Given the description of an element on the screen output the (x, y) to click on. 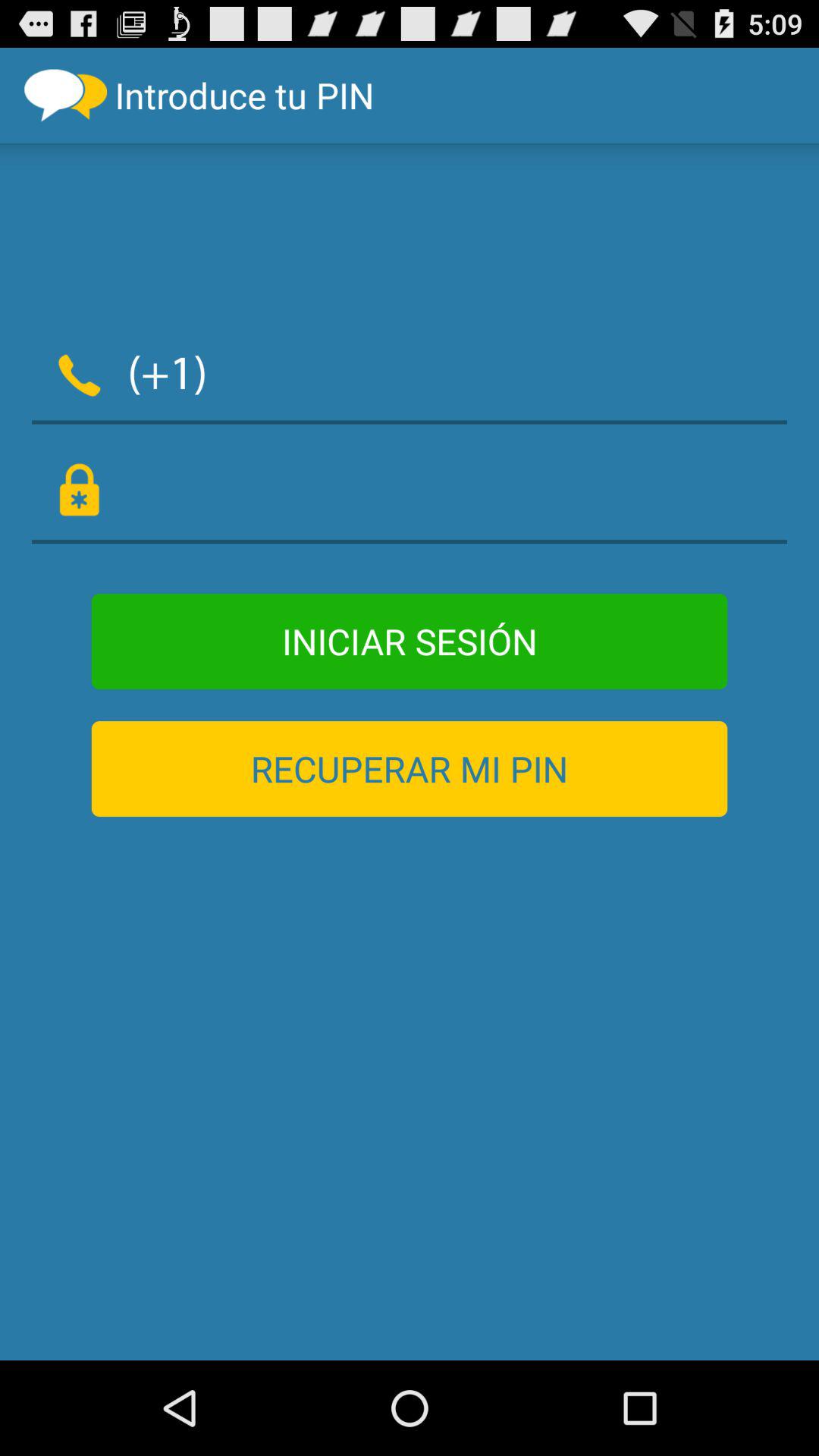
secure password (409, 491)
